Given the description of an element on the screen output the (x, y) to click on. 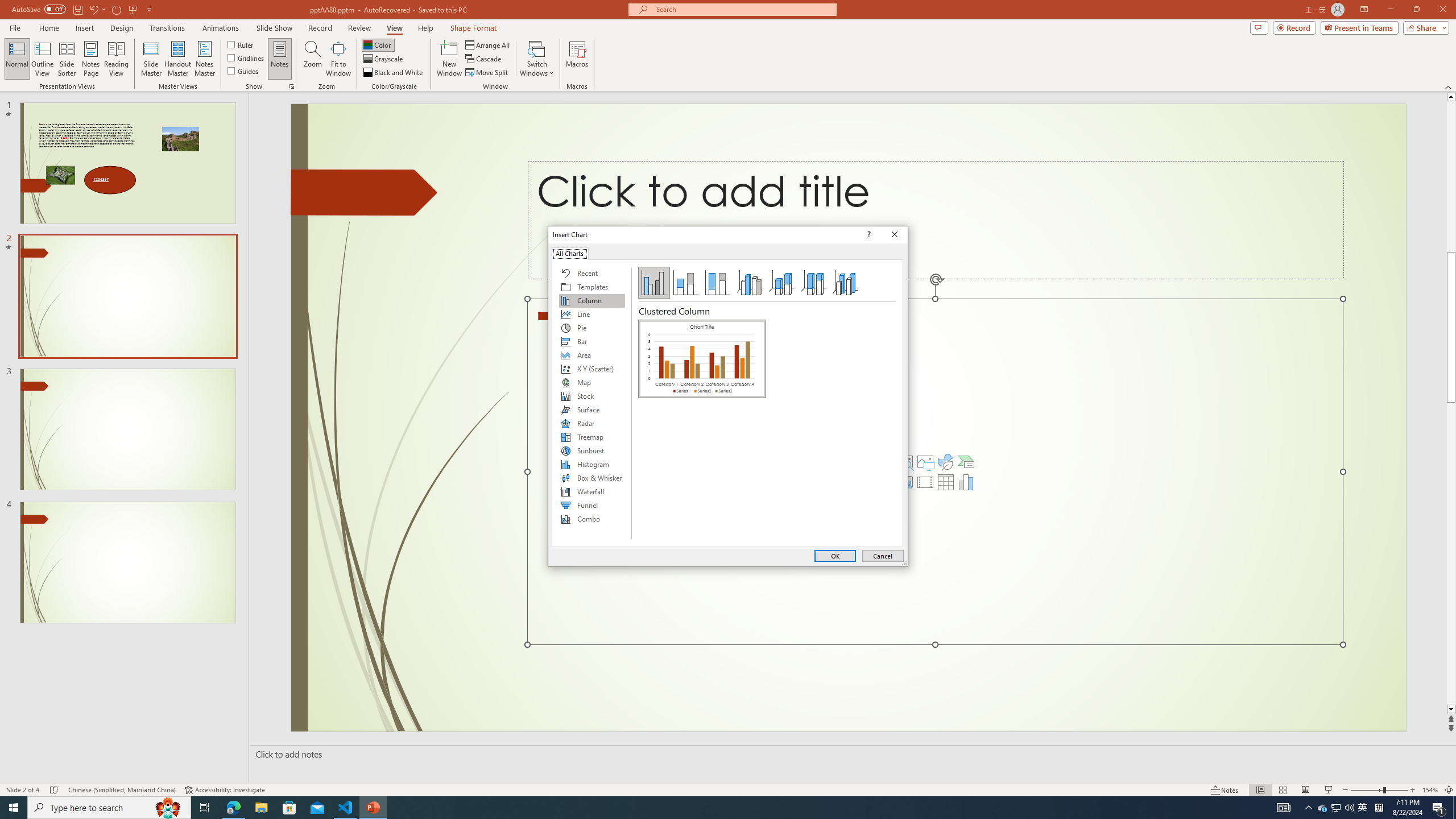
Insert Table (945, 482)
Radar (591, 423)
Handout Master (177, 58)
Treemap (591, 436)
Switch Windows (537, 58)
Bar (591, 341)
Box & Whisker (591, 477)
Funnel (591, 505)
